Given the description of an element on the screen output the (x, y) to click on. 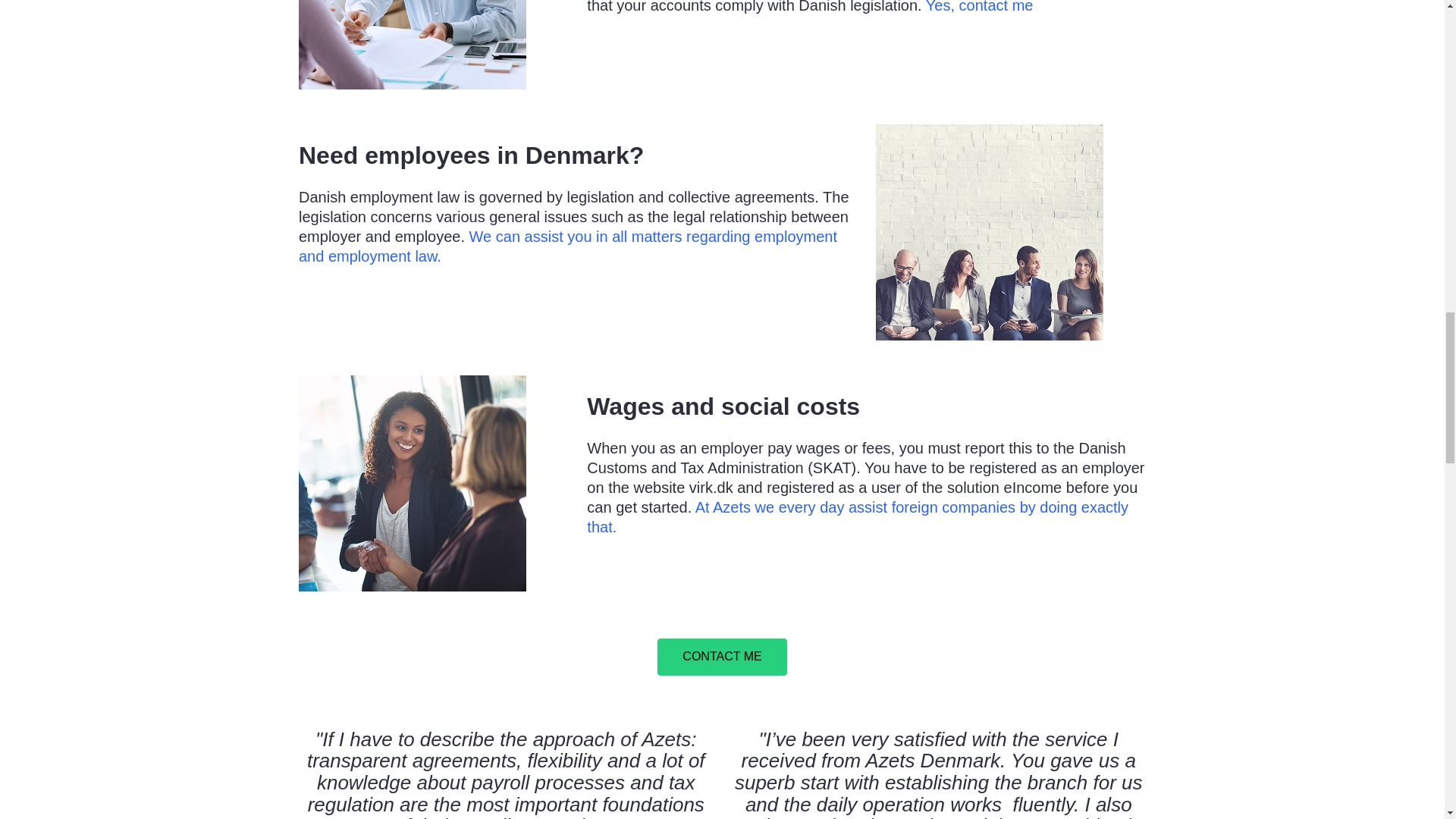
CONTACT ME (722, 656)
Yes, contact me (979, 6)
Contact (722, 656)
